Given the description of an element on the screen output the (x, y) to click on. 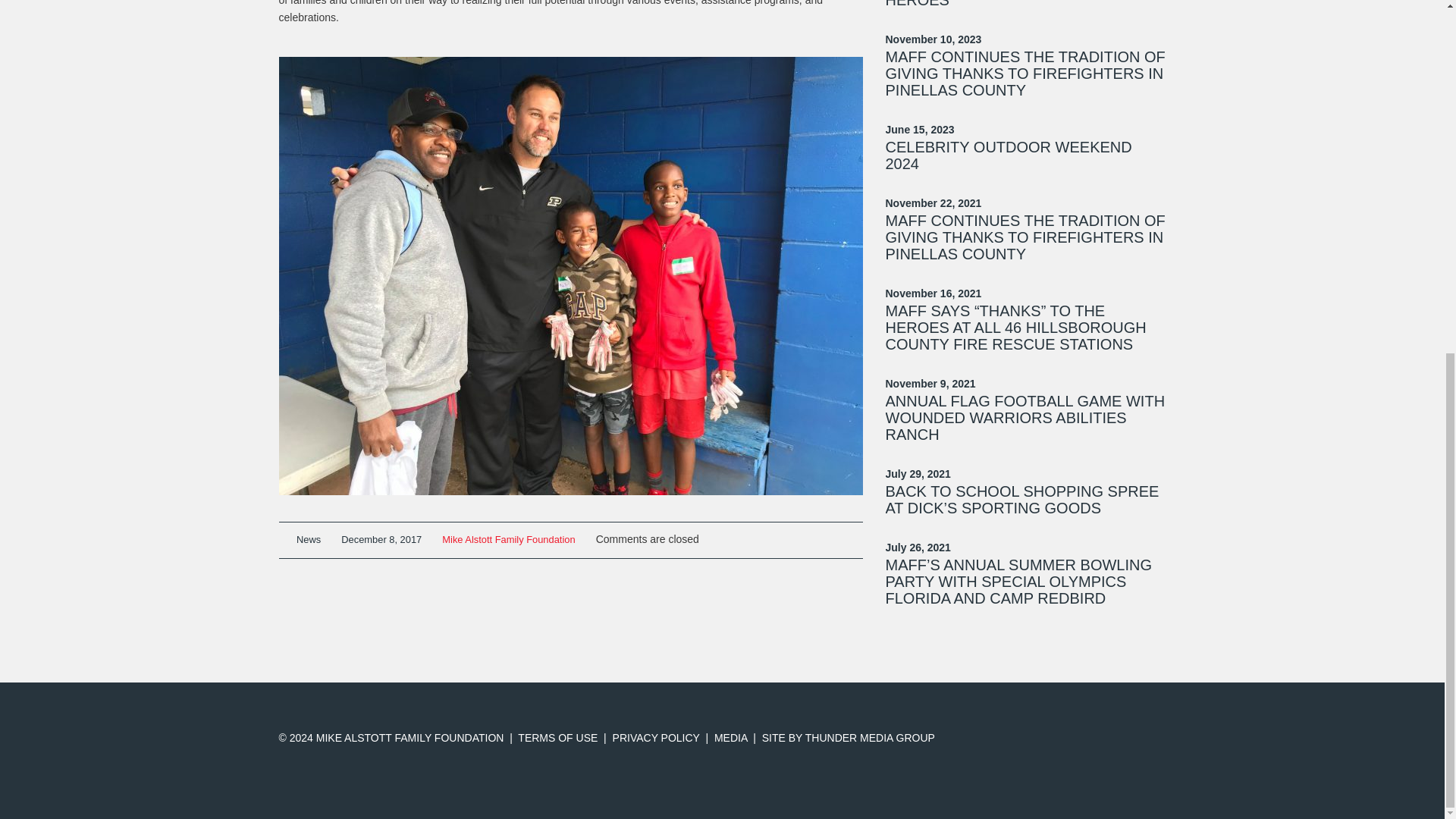
TERMS OF USE (557, 737)
CELEBRITY OUTDOOR WEEKEND 2024 (1008, 154)
Celebrity Outdoor Weekend 2024 (1008, 154)
Posts by Mike Alstott Family Foundation (508, 539)
PRIVACY POLICY (656, 737)
SITE BY THUNDER MEDIA GROUP (847, 737)
MEDIA (731, 737)
News (308, 539)
